Given the description of an element on the screen output the (x, y) to click on. 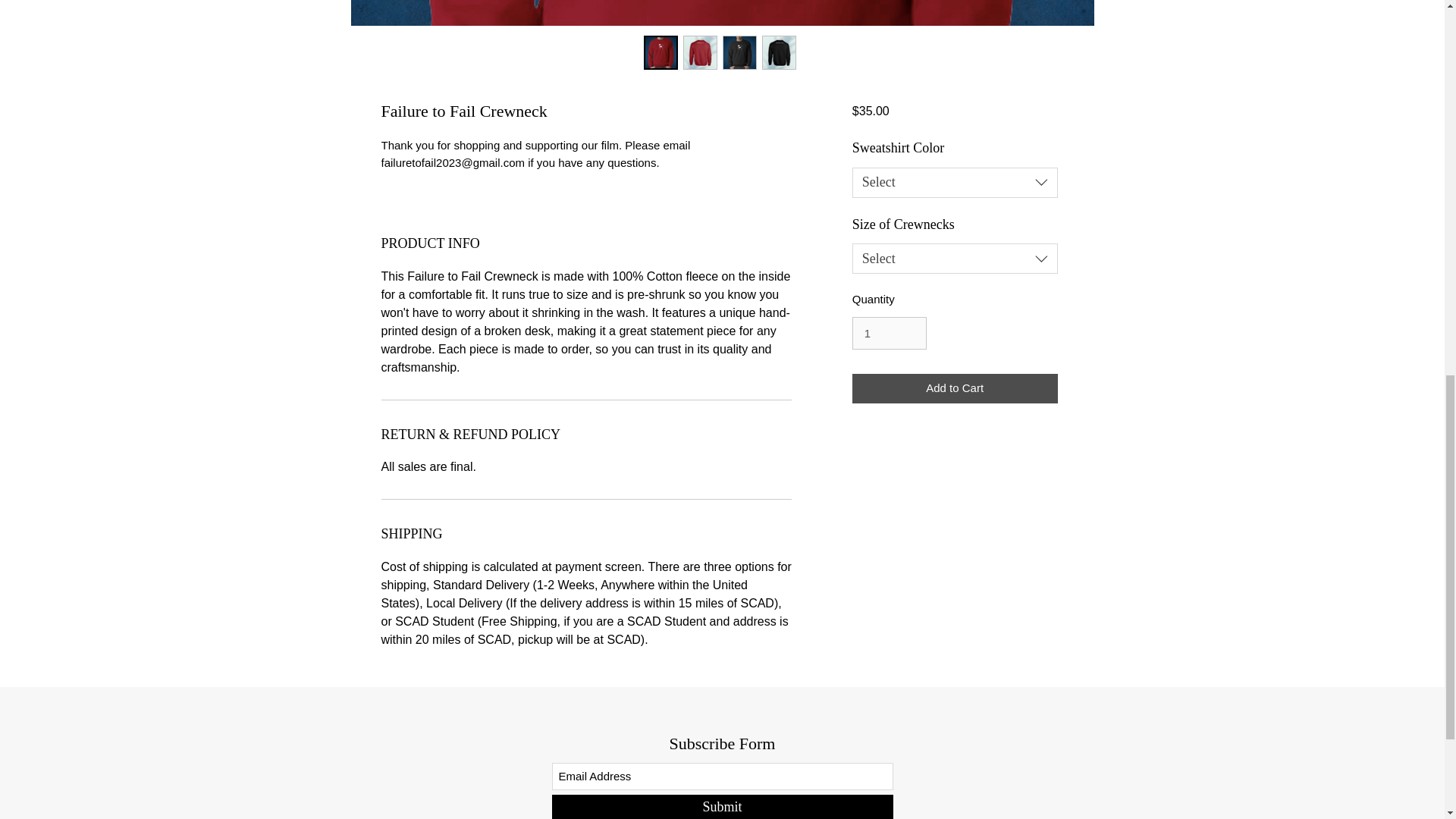
Add to Cart (954, 388)
1 (888, 333)
Select (954, 182)
Select (954, 258)
Submit (722, 806)
